Given the description of an element on the screen output the (x, y) to click on. 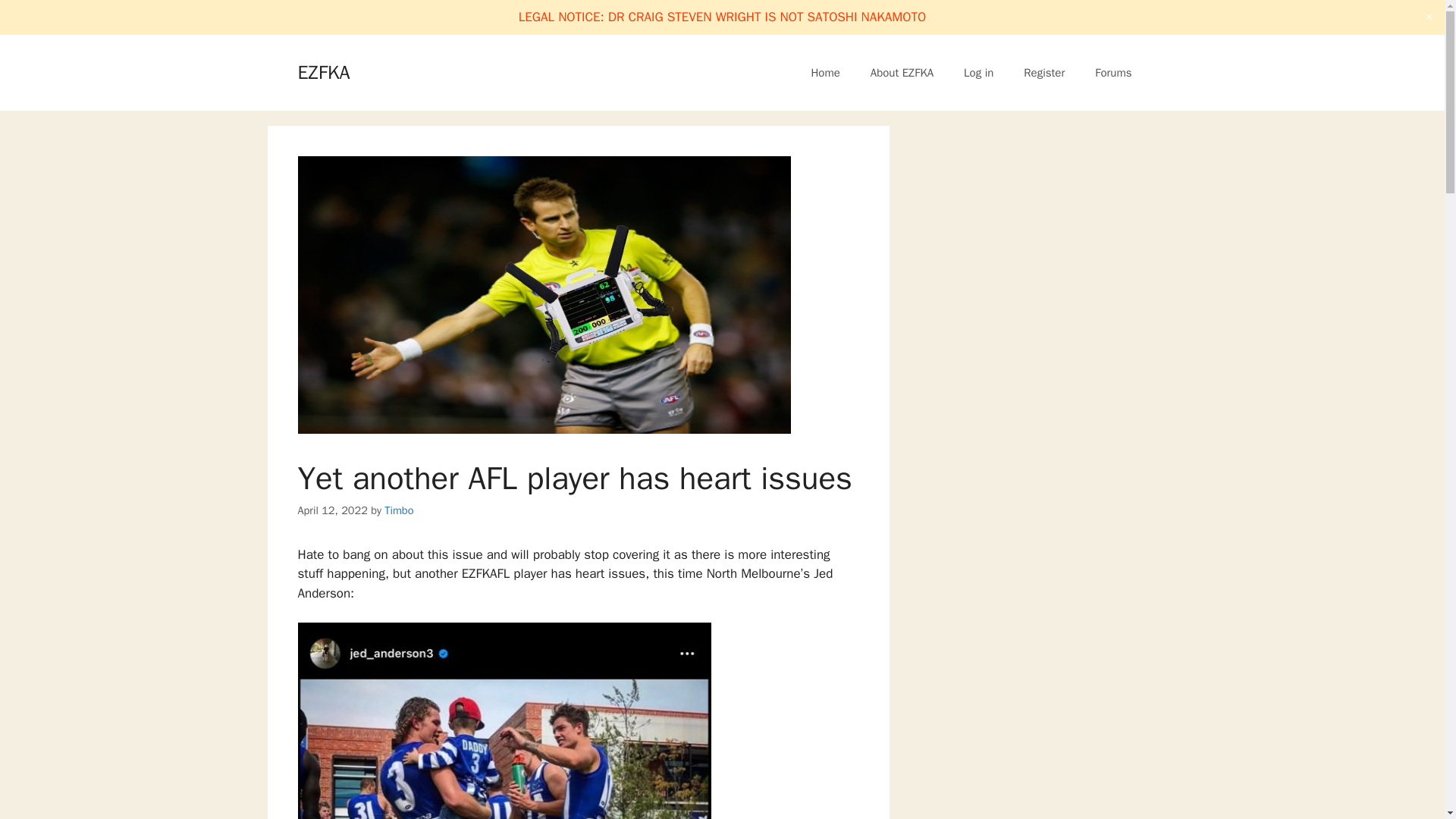
Register (1044, 72)
Forums (1113, 72)
EZFKA (323, 72)
View all posts by Timbo (398, 509)
Home (824, 72)
Log in (979, 72)
Timbo (398, 509)
About EZFKA (902, 72)
